Given the description of an element on the screen output the (x, y) to click on. 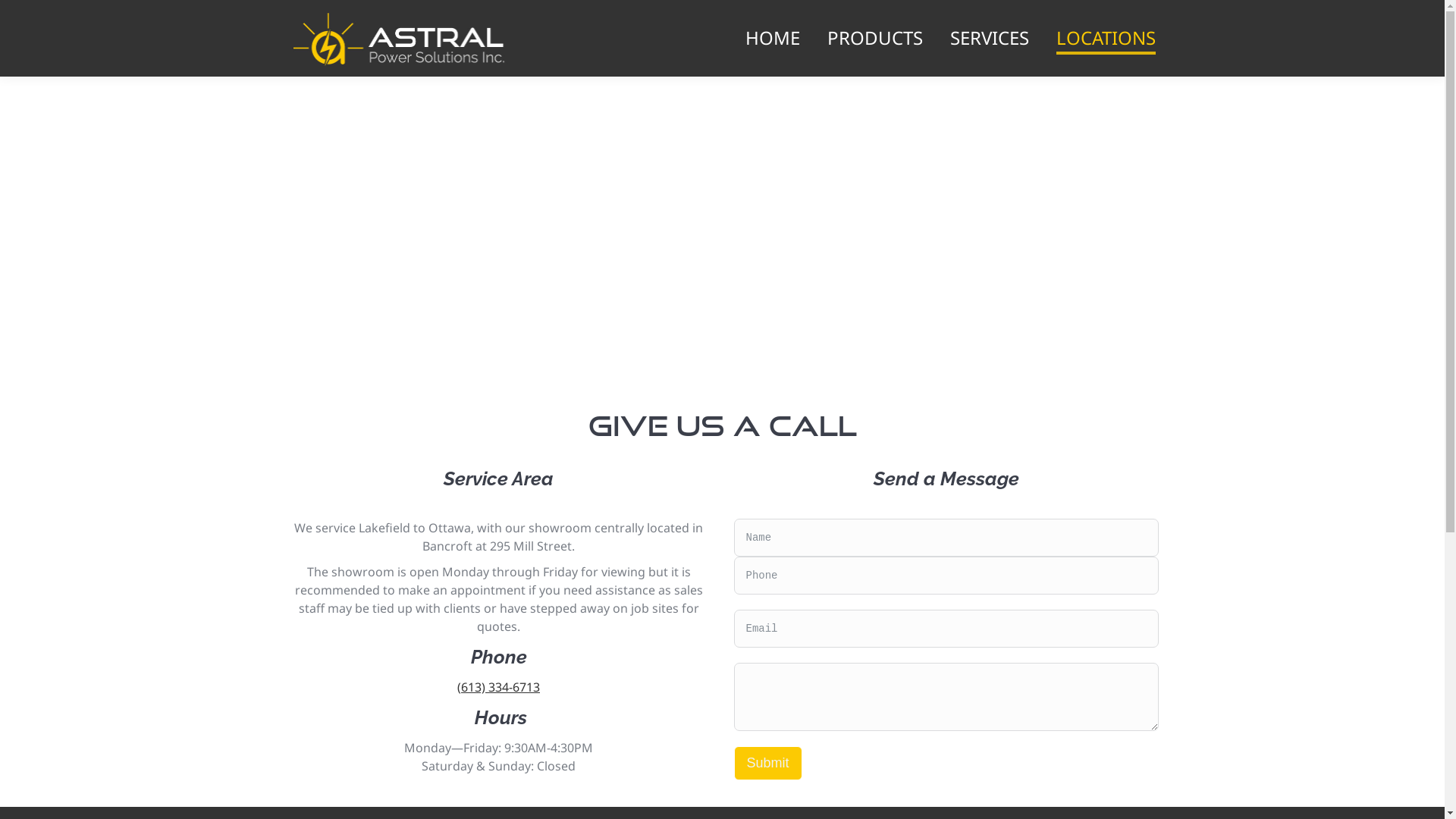
(613) 334-6713 Element type: text (498, 686)
HOME Element type: text (771, 37)
SERVICES Element type: text (988, 37)
Submit Element type: text (768, 763)
PRODUCTS Element type: text (874, 37)
LOCATIONS Element type: text (1104, 37)
